Given the description of an element on the screen output the (x, y) to click on. 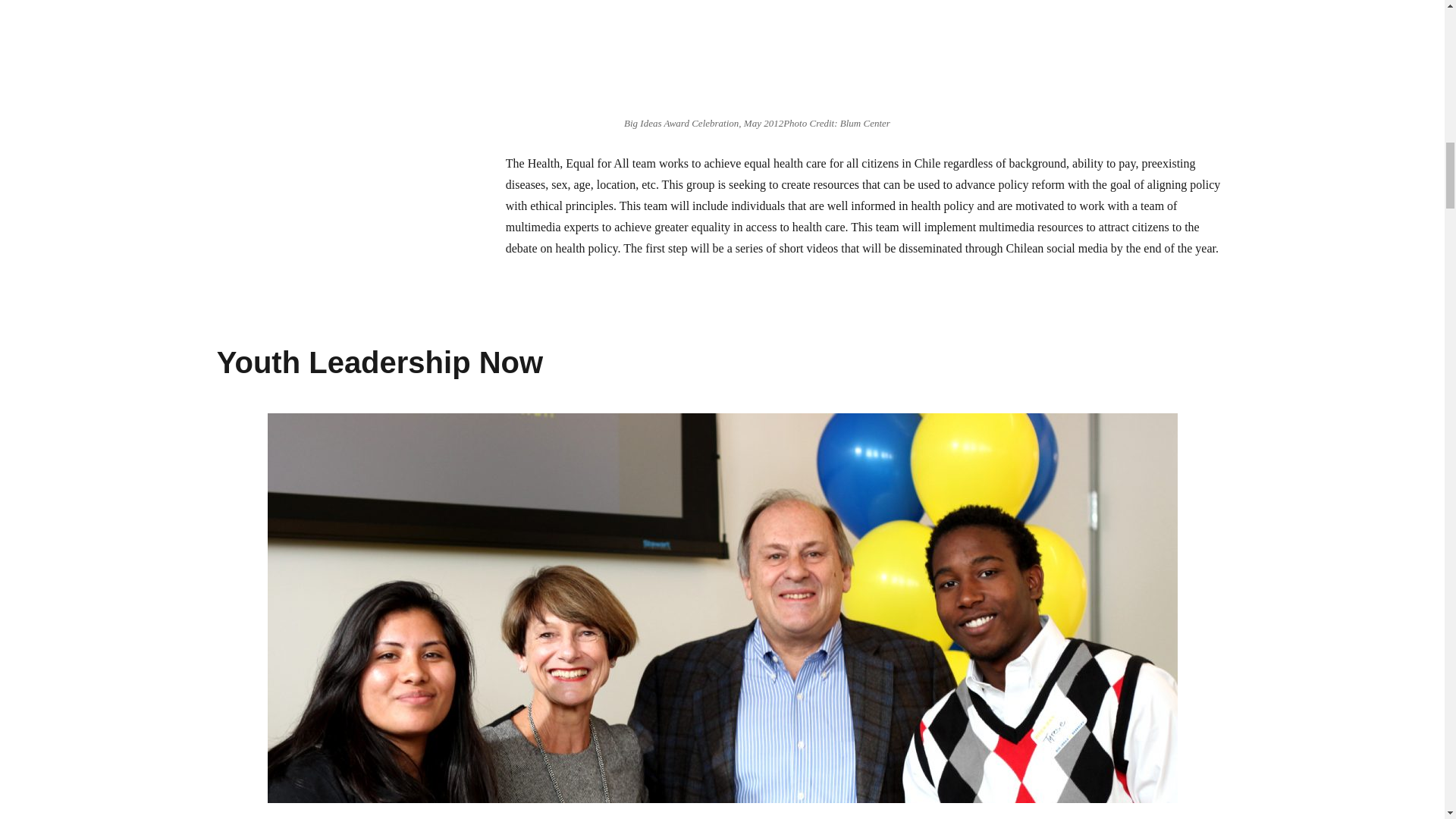
Youth Leadership Now (379, 362)
